Given the description of an element on the screen output the (x, y) to click on. 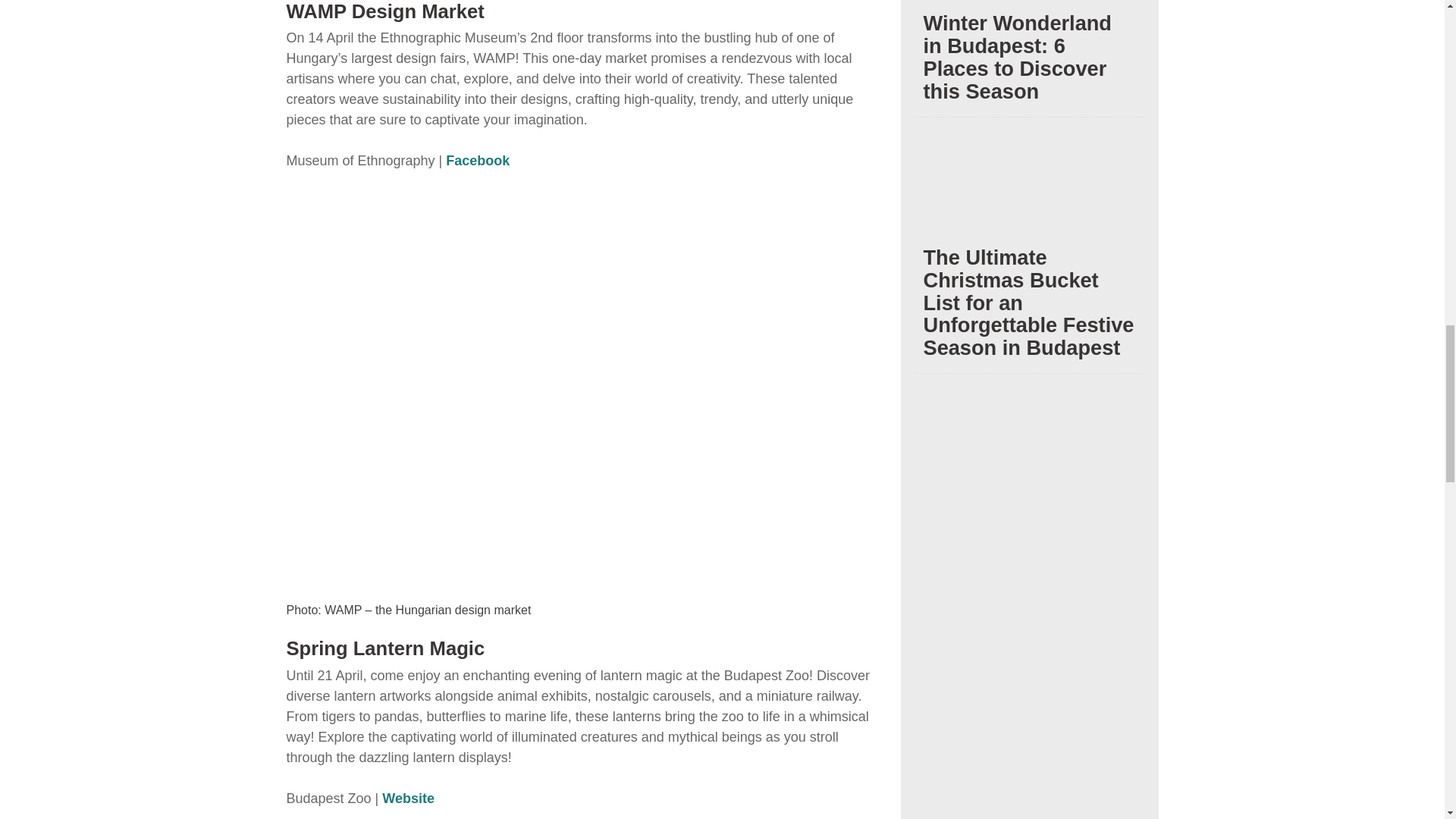
Website (407, 797)
Facebook (475, 160)
